Given the description of an element on the screen output the (x, y) to click on. 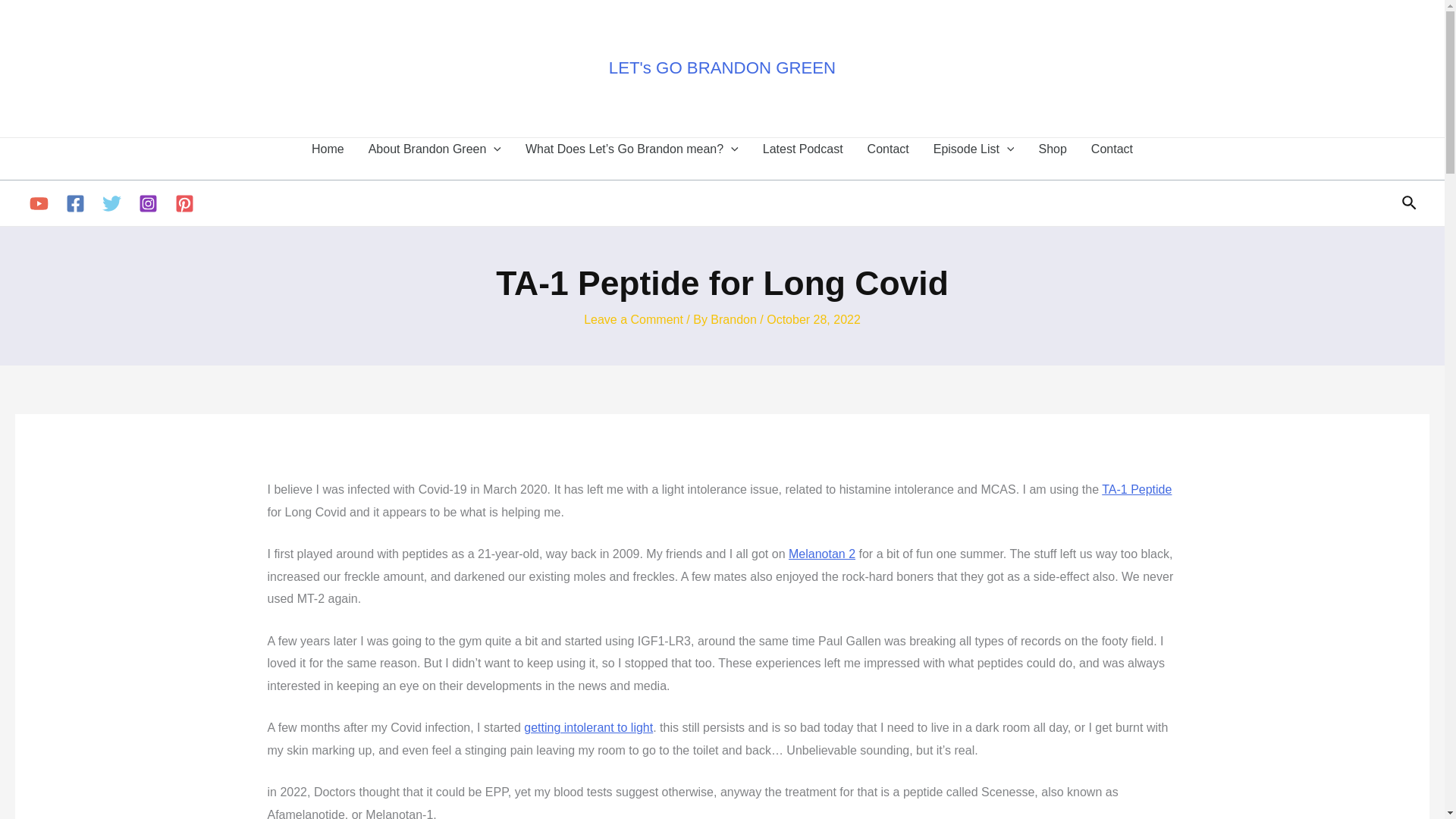
Search (1410, 203)
About Brandon Green (434, 158)
Contact (888, 158)
Home (327, 158)
Contact (1111, 158)
Shop (1052, 158)
View all posts by Brandon (735, 318)
Latest Podcast (803, 158)
Episode List (973, 158)
LET's GO BRANDON GREEN (721, 67)
